Given the description of an element on the screen output the (x, y) to click on. 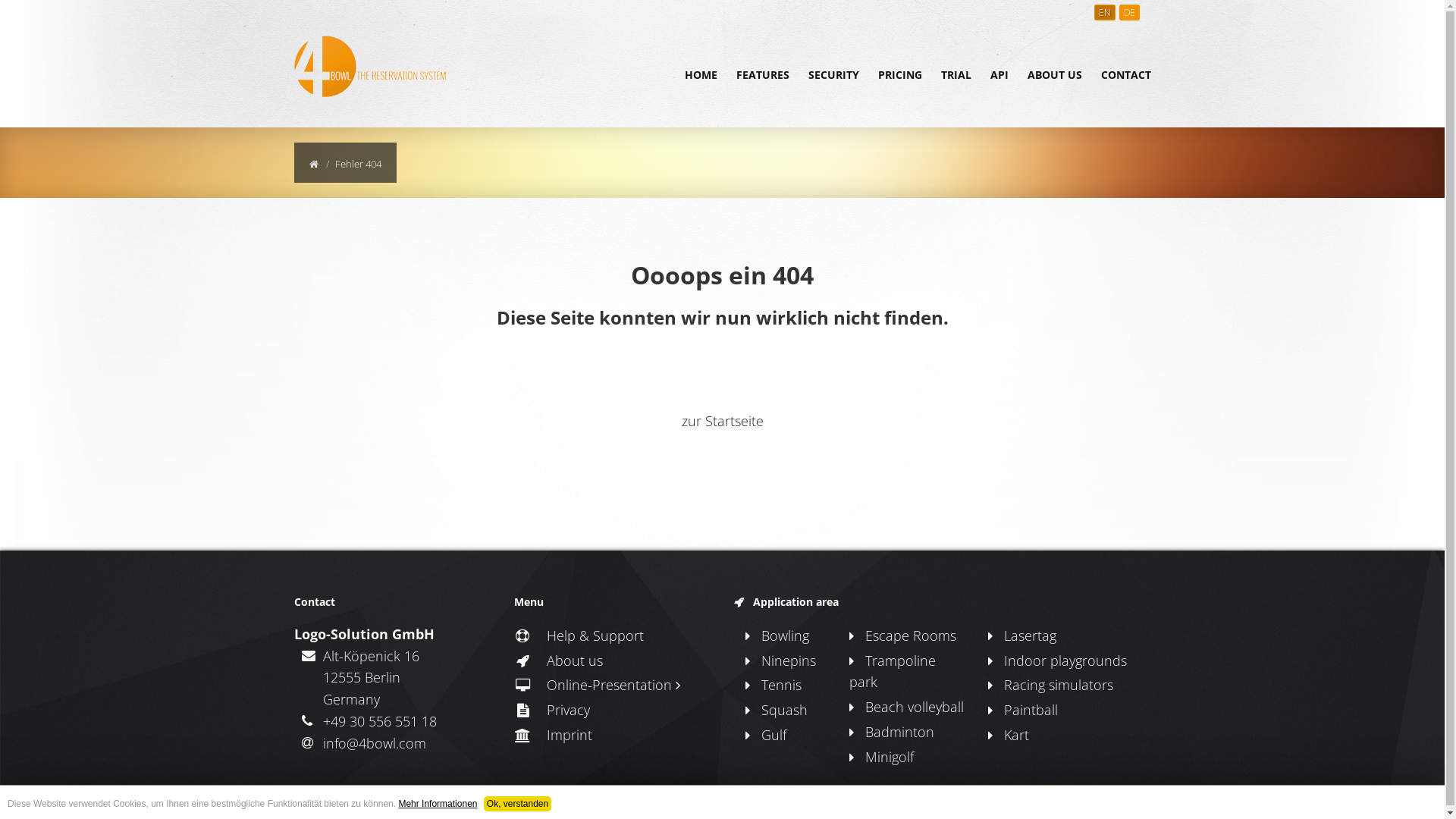
DE Element type: text (1129, 12)
ABOUT US Element type: text (1053, 74)
zur Startseite Element type: text (721, 420)
PRICING Element type: text (900, 74)
CONTACT Element type: text (1126, 74)
HOME Element type: text (700, 74)
FEATURES Element type: text (761, 74)
   Online-Presentation Element type: text (597, 684)
   Privacy Element type: text (551, 709)
Logo-Solution Element type: text (1115, 805)
SECURITY Element type: text (833, 74)
   About us Element type: text (558, 659)
EN Element type: text (1103, 12)
Logo-Solution Element type: text (426, 805)
   Imprint Element type: text (553, 734)
Mehr Informationen Element type: text (437, 803)
TRIAL Element type: text (955, 74)
   Help & Support Element type: text (578, 635)
Ok, verstanden Element type: text (517, 803)
API Element type: text (999, 74)
